Given the description of an element on the screen output the (x, y) to click on. 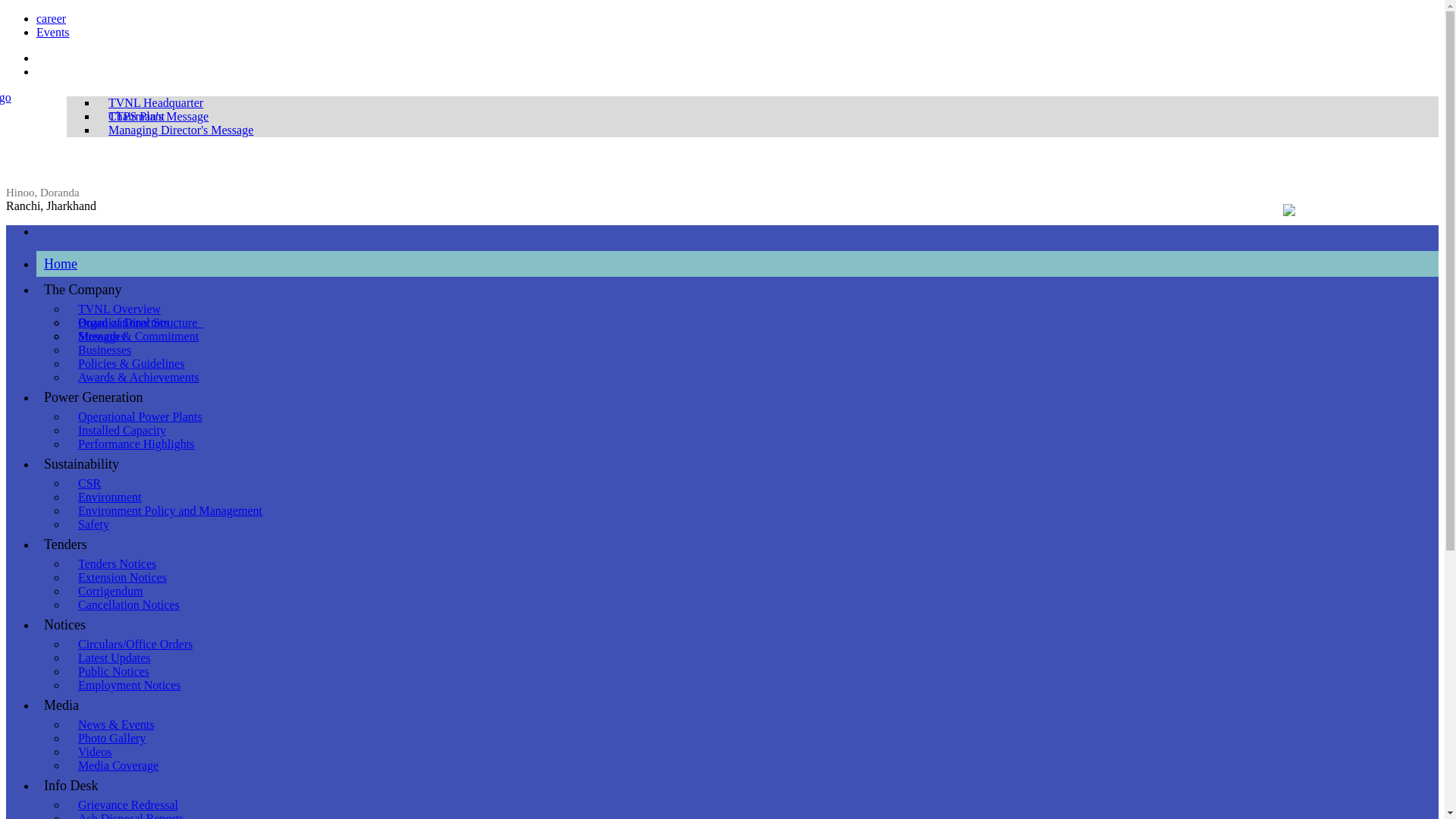
Latest Updates (113, 657)
Tenders   (68, 544)
The Company   (85, 289)
Businesses (104, 349)
Employment Notices (129, 684)
CSR (89, 483)
Safety (93, 524)
Tenders Notices (116, 563)
Messages   (104, 335)
Power Generation   (96, 396)
